Given the description of an element on the screen output the (x, y) to click on. 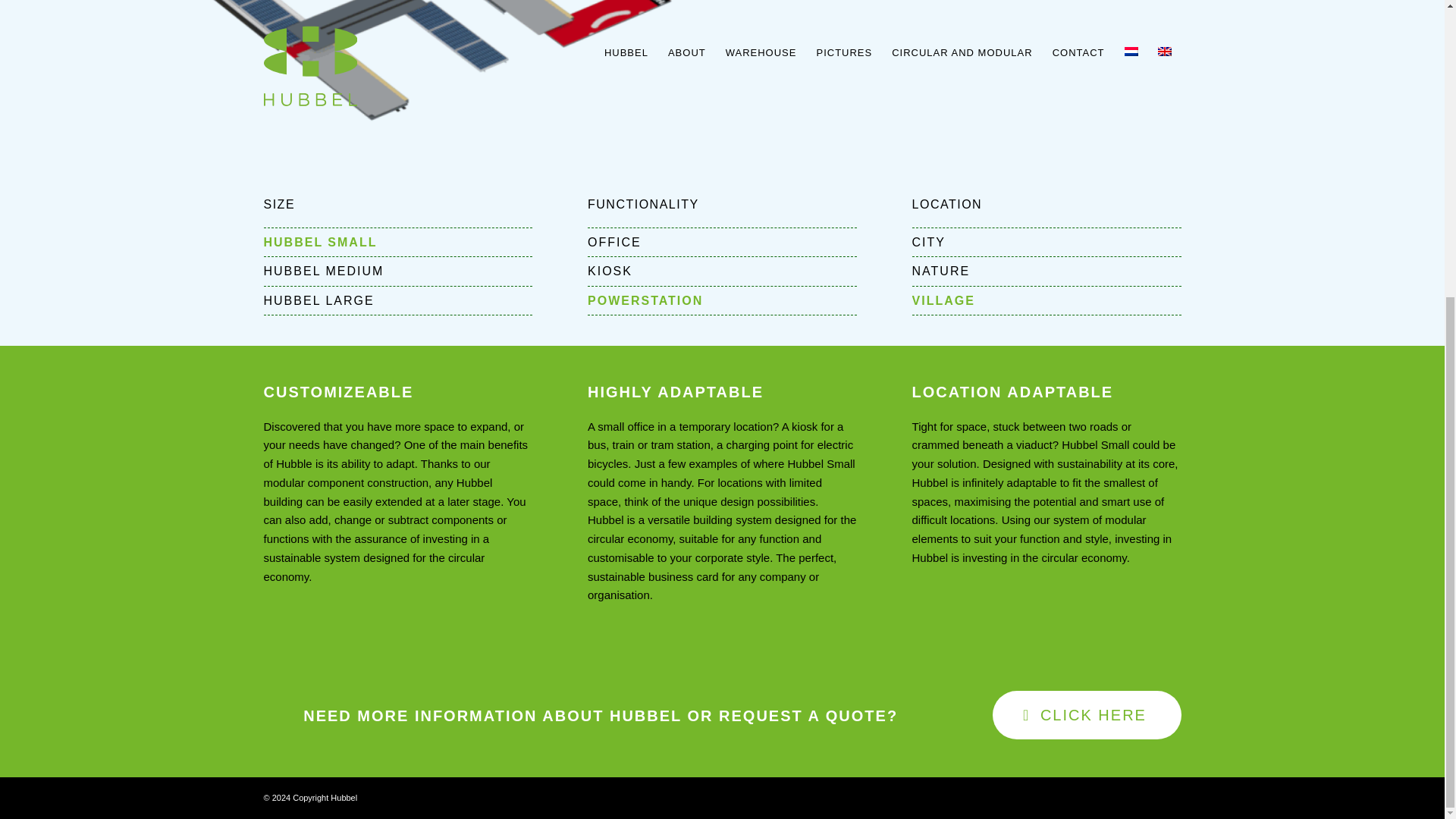
CLICK HERE (1086, 715)
OFFICE (722, 242)
CITY (1046, 242)
KIOSK (722, 271)
NATURE (1046, 271)
HUBBEL LARGE (397, 300)
HUBBEL MEDIUM (397, 271)
